Given the description of an element on the screen output the (x, y) to click on. 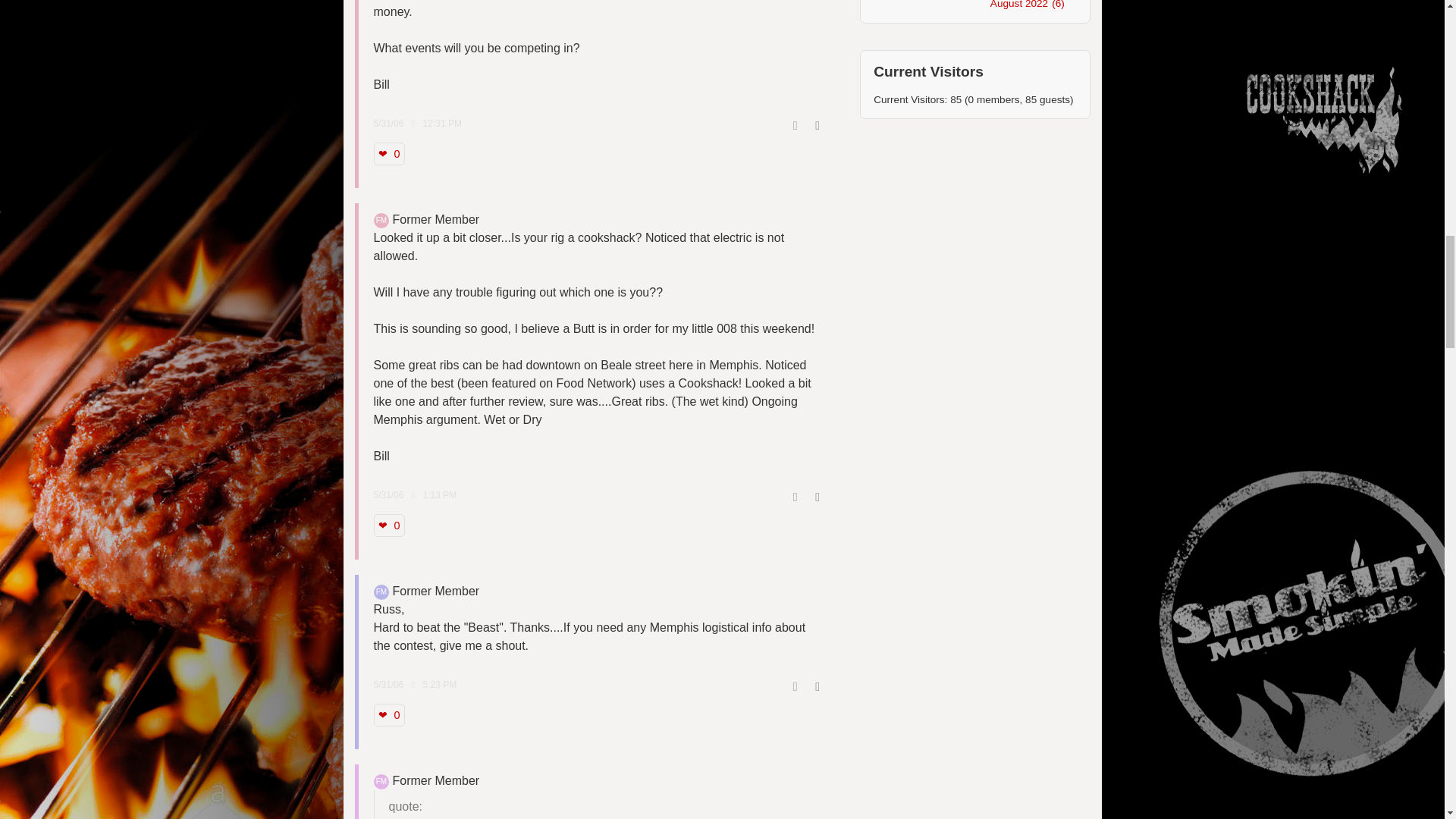
FM (380, 220)
FM (380, 781)
Former Member (380, 220)
Former Member (380, 591)
FM (380, 591)
